Given the description of an element on the screen output the (x, y) to click on. 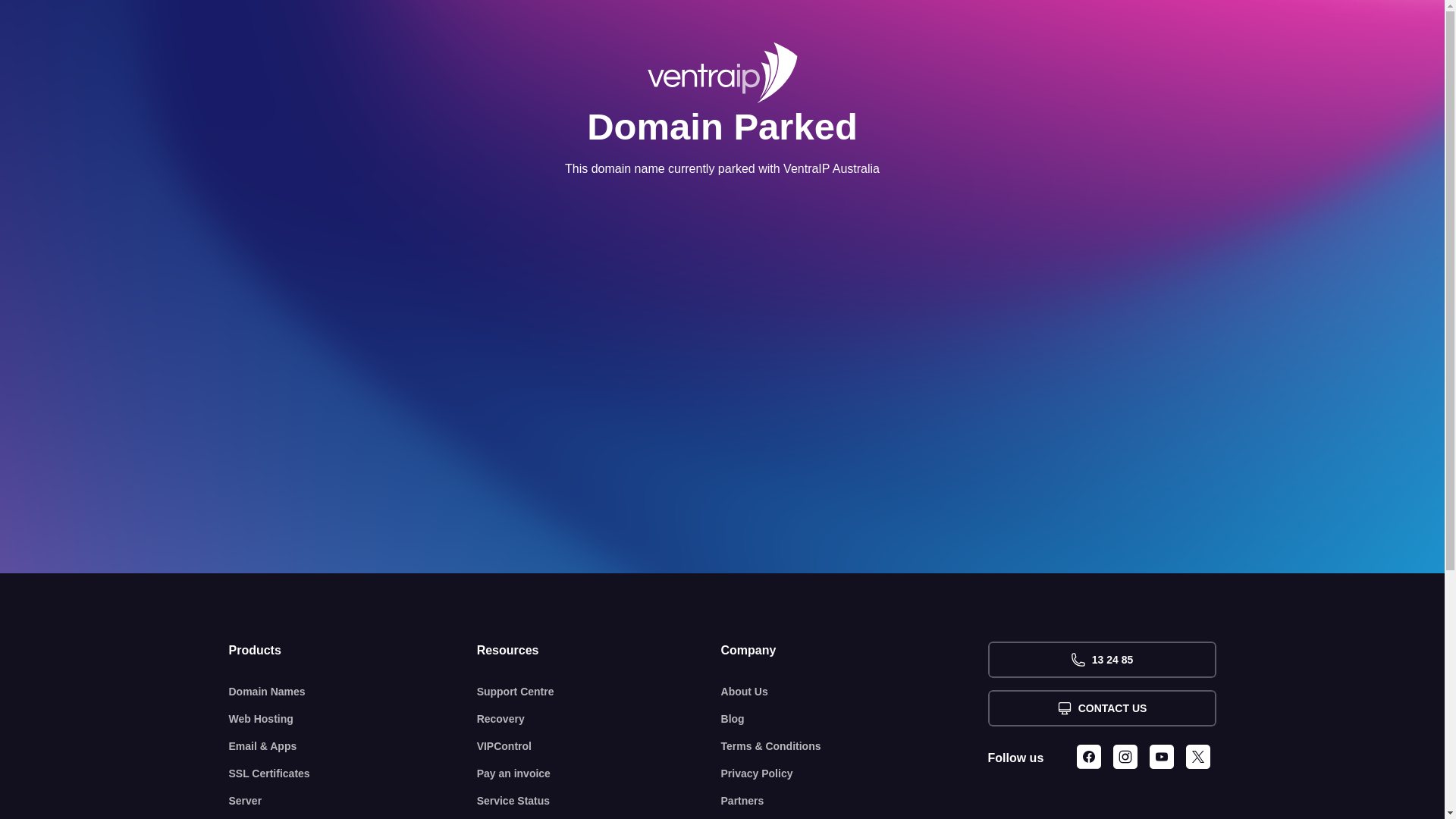
VIPControl Element type: text (598, 745)
SSL Certificates Element type: text (352, 773)
Recovery Element type: text (598, 718)
CONTACT US Element type: text (1101, 708)
Pay an invoice Element type: text (598, 773)
Domain Names Element type: text (352, 691)
Support Centre Element type: text (598, 691)
Web Hosting Element type: text (352, 718)
About Us Element type: text (854, 691)
Server Element type: text (352, 800)
Terms & Conditions Element type: text (854, 745)
Privacy Policy Element type: text (854, 773)
Email & Apps Element type: text (352, 745)
Partners Element type: text (854, 800)
13 24 85 Element type: text (1101, 659)
Blog Element type: text (854, 718)
Service Status Element type: text (598, 800)
